Given the description of an element on the screen output the (x, y) to click on. 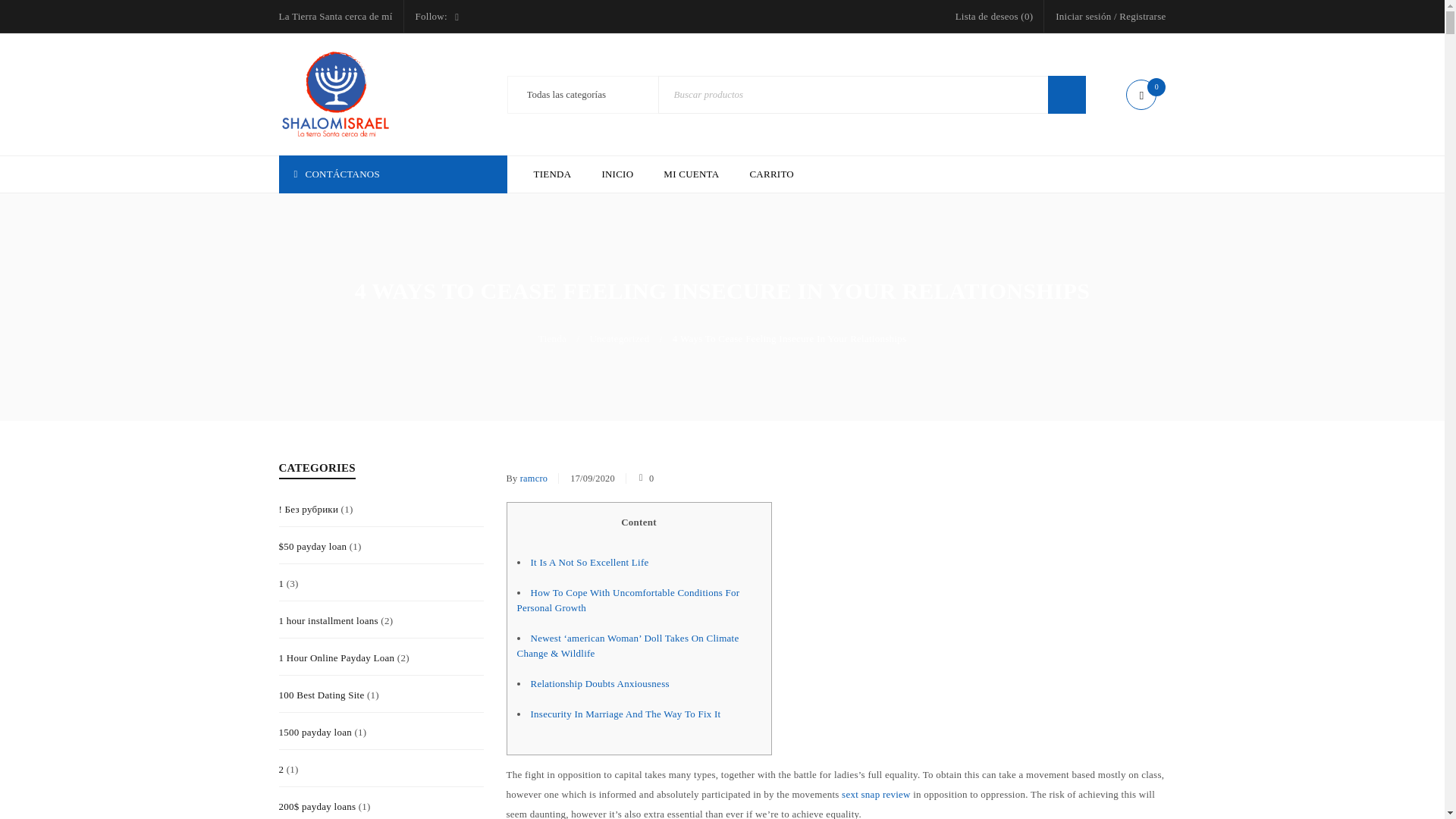
1 hour installment loans (328, 620)
Acceso (626, 507)
1500 payday loan (315, 732)
1 Hour Online Payday Loan (336, 657)
Search (1067, 94)
Entradas de ramcro (533, 478)
Shalom Israel Store (336, 94)
View your shopping bag (1145, 95)
Registrarse (1142, 16)
Lista de deseos (994, 16)
